Given the description of an element on the screen output the (x, y) to click on. 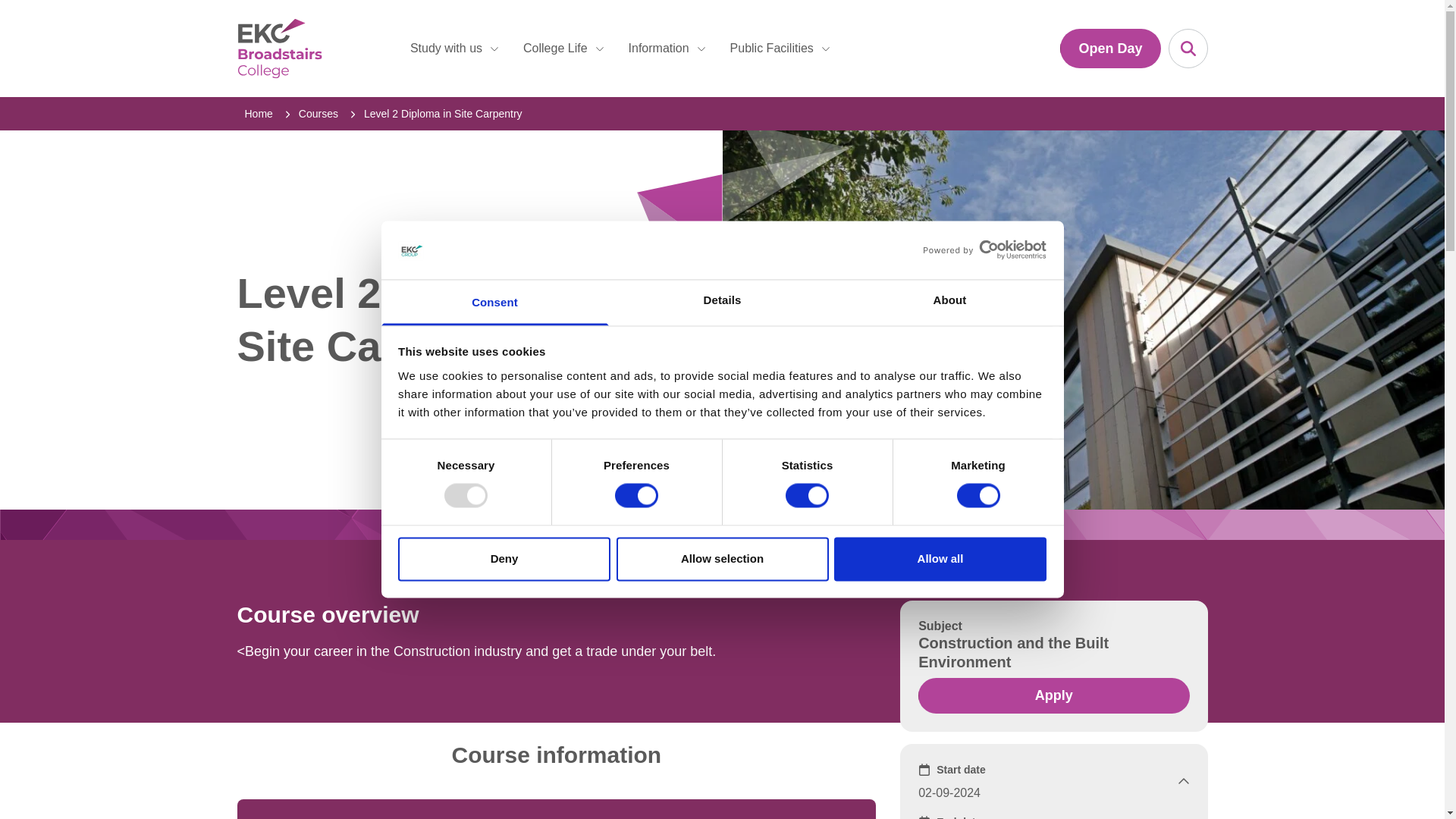
Allow selection (721, 558)
Deny (503, 558)
Study with us (454, 48)
Home Link Logo (314, 48)
Allow all (940, 558)
Consent (494, 302)
About (948, 302)
Details (721, 302)
